Given the description of an element on the screen output the (x, y) to click on. 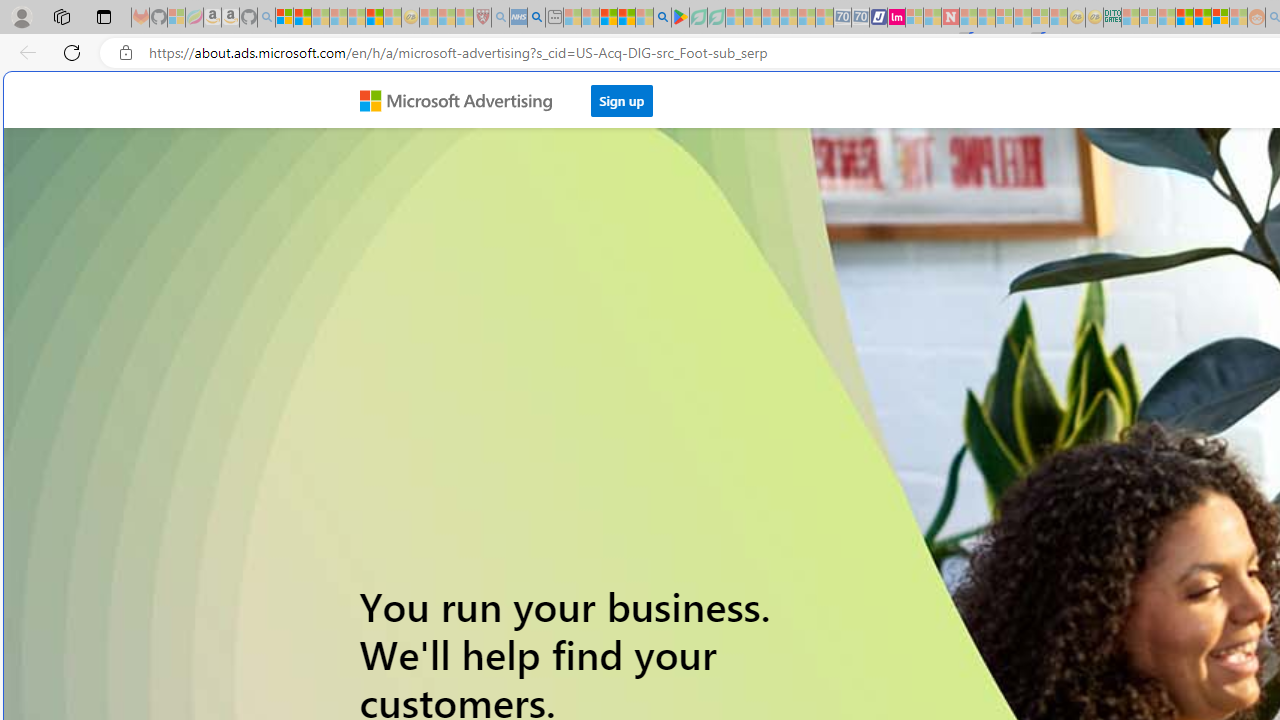
Microsoft Advertising (463, 99)
Pets - MSN (626, 17)
Sign up (622, 100)
